Given the description of an element on the screen output the (x, y) to click on. 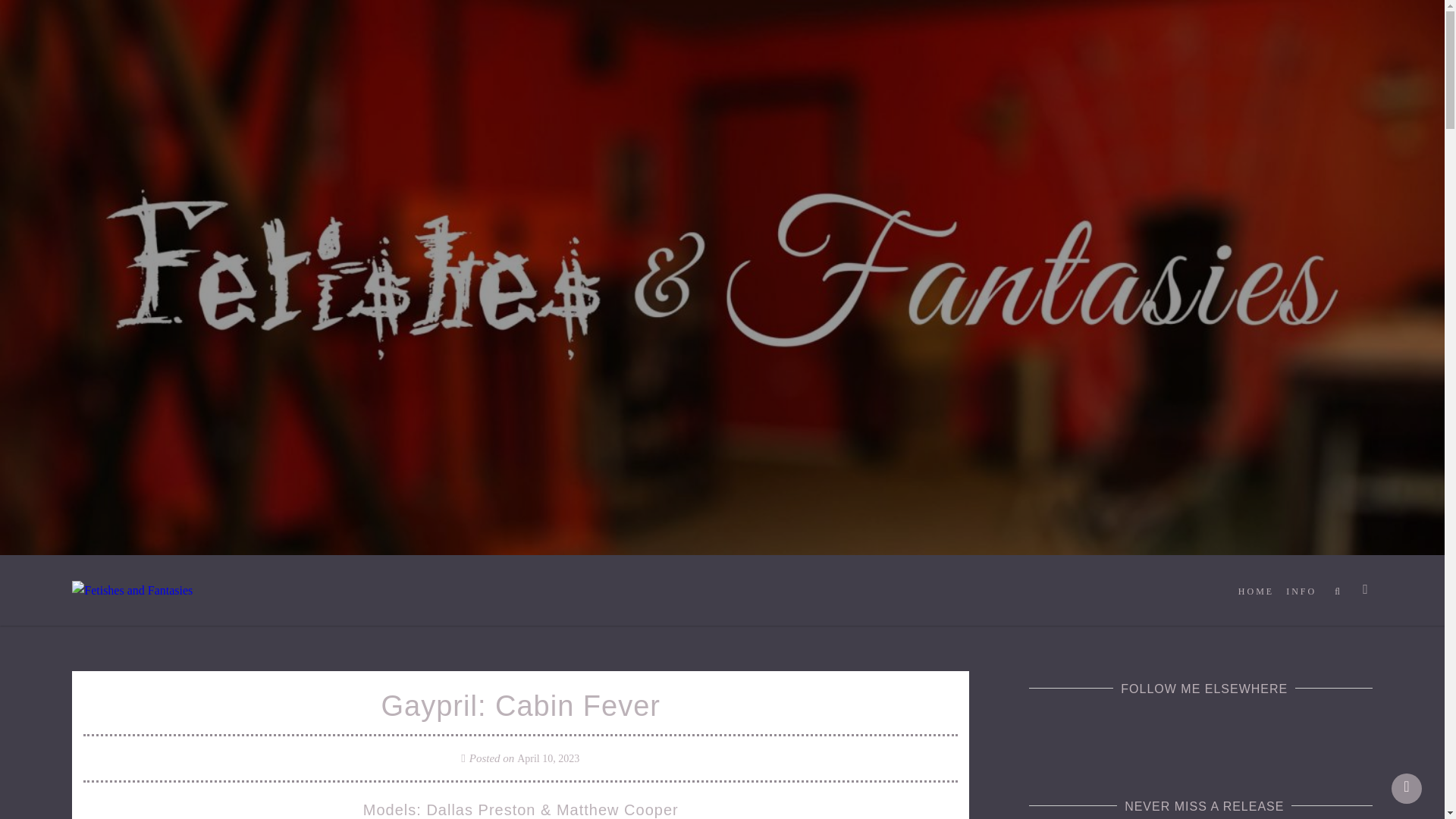
HOME (1255, 591)
INFO (1300, 591)
Go to Top (1406, 788)
April 10, 2023 (547, 759)
